Given the description of an element on the screen output the (x, y) to click on. 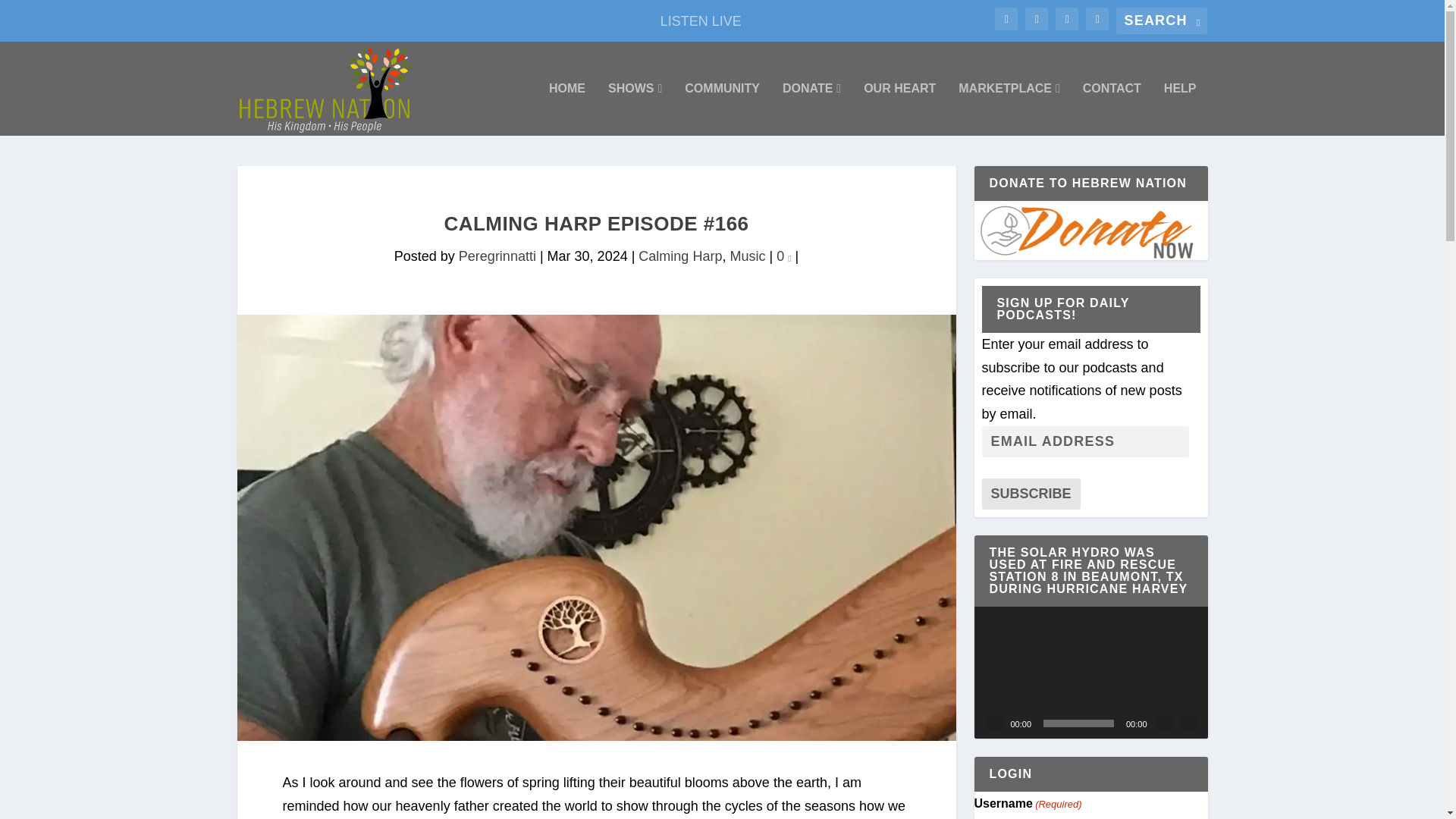
DONATE (812, 108)
CLICK HERE TO LISTEN LIVE (332, 20)
MARKETPLACE (1008, 108)
Posts by Peregrinnatti (496, 255)
CONTACT (1112, 108)
LISTEN LIVE (701, 20)
OUR HEART (899, 108)
COMMUNITY (722, 108)
Search for: (1161, 20)
SHOWS (635, 108)
